Given the description of an element on the screen output the (x, y) to click on. 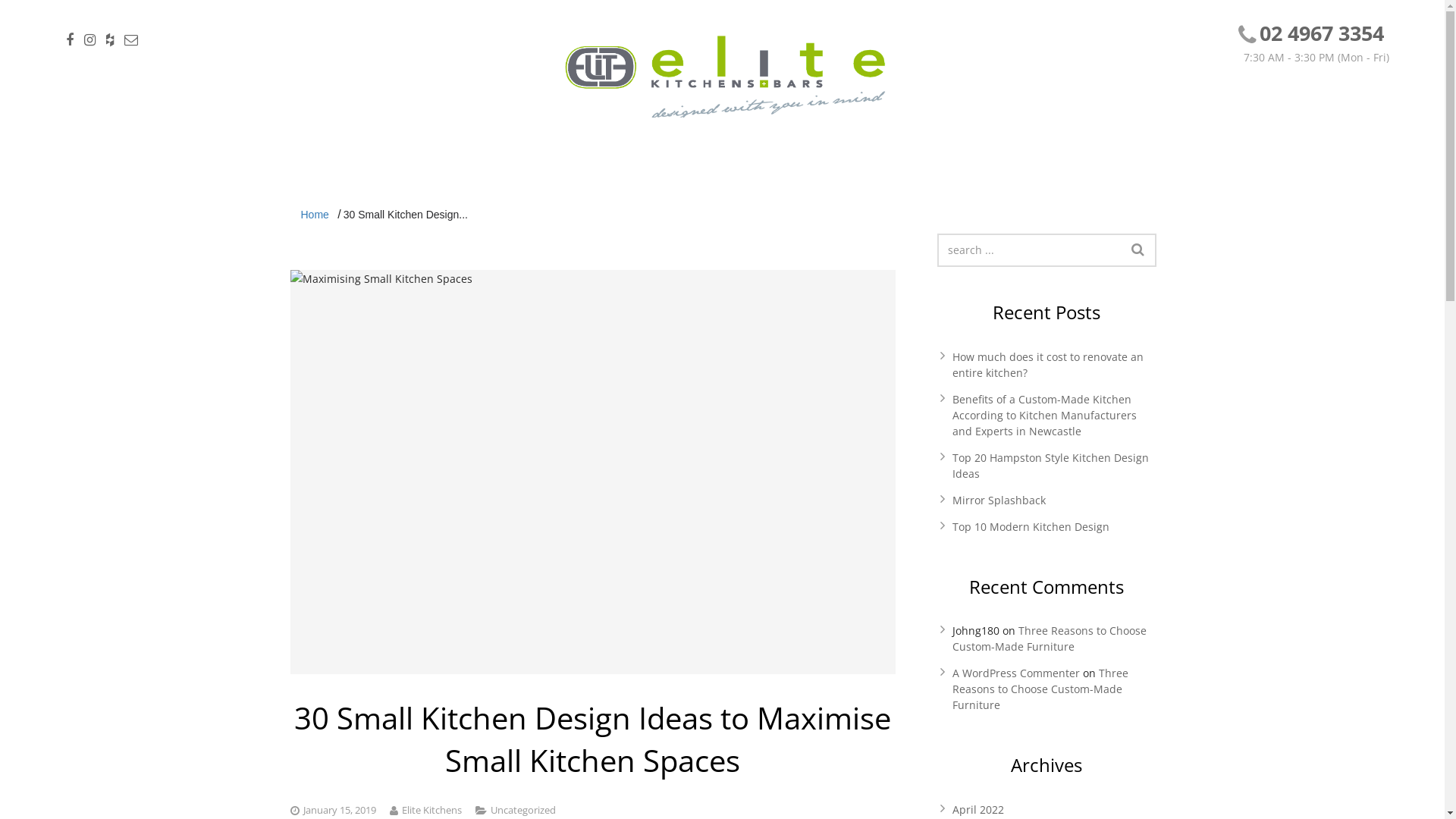
How much does it cost to renovate an entire kitchen? Element type: text (1047, 364)
02 4967 3354 Element type: text (1321, 32)
A WordPress Commenter Element type: text (1015, 672)
Top 20 Hampston Style Kitchen Design Ideas Element type: text (1050, 465)
Uncategorized Element type: text (522, 809)
30 Small Kitchen Design... Element type: text (405, 214)
Three Reasons to Choose Custom-Made Furniture Element type: text (1040, 688)
Home Element type: text (314, 214)
Top 10 Modern Kitchen Design Element type: text (1030, 526)
Elite Kitchens Element type: text (431, 809)
Mirror Splashback Element type: text (998, 499)
April 2022 Element type: text (978, 809)
Three Reasons to Choose Custom-Made Furniture Element type: text (1049, 638)
